Given the description of an element on the screen output the (x, y) to click on. 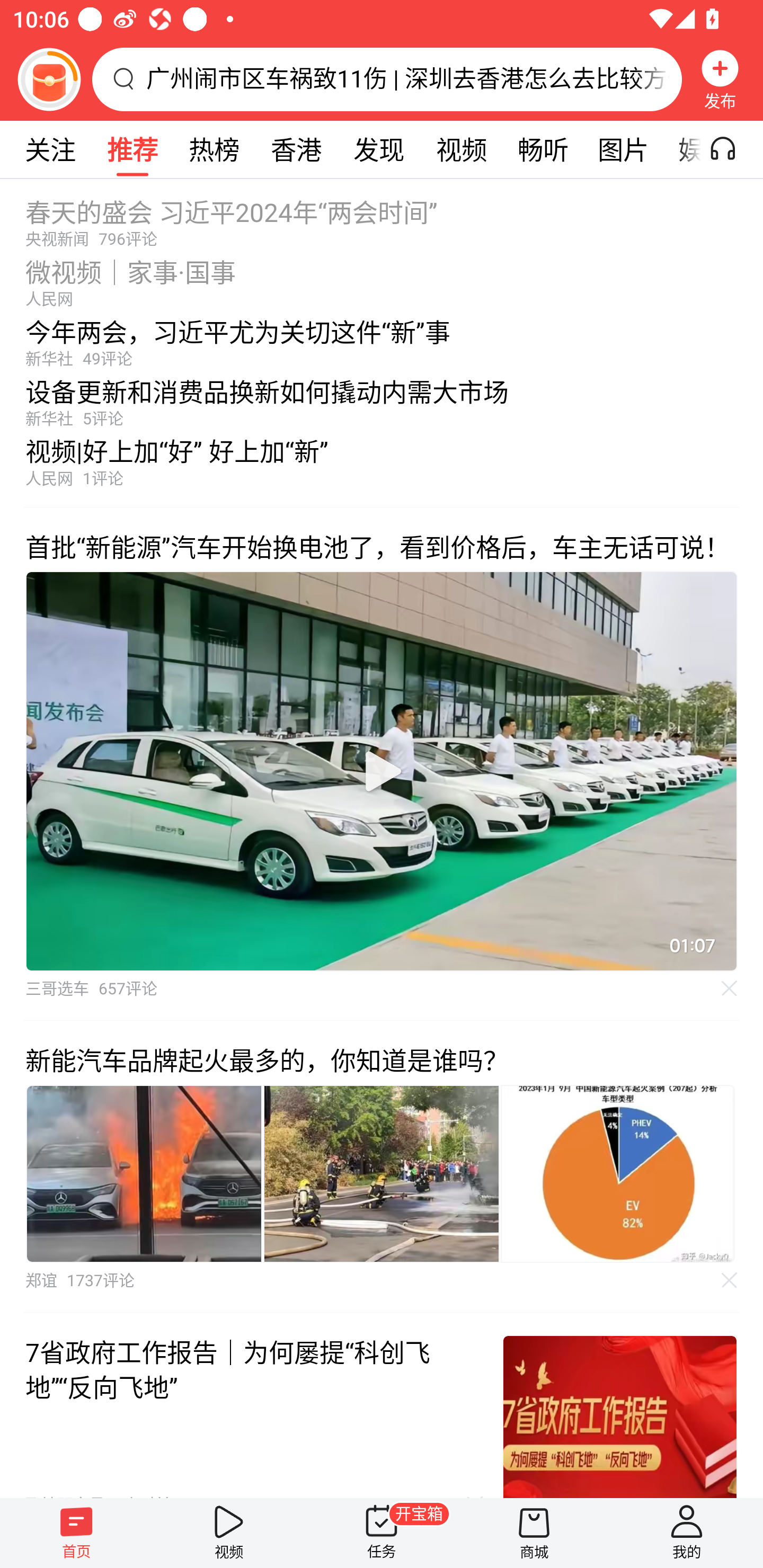
阅读赚金币 (48, 79)
发布 发布，按钮 (720, 78)
关注 (50, 149)
推荐 (132, 149)
热榜 (213, 149)
香港 (295, 149)
发现 (378, 149)
视频 (461, 149)
畅听 (542, 149)
图片 (623, 149)
听一听开关 (732, 149)
微视频｜家事·国事人民网 视频 微视频｜家事·国事 人民网 (381, 277)
视频|好上加“好” 好上加“新”人民网1评论 文章 视频|好上加“好” 好上加“新” 人民网1评论 (381, 467)
播放视频 视频播放器，双击屏幕打开播放控制 (381, 771)
播放视频 (381, 771)
不感兴趣 (729, 987)
内容图片 (143, 1174)
内容图片 (381, 1174)
内容图片 (617, 1174)
不感兴趣 (729, 1279)
首页 (76, 1532)
视频 (228, 1532)
任务 开宝箱 (381, 1532)
商城 (533, 1532)
我的 (686, 1532)
